Given the description of an element on the screen output the (x, y) to click on. 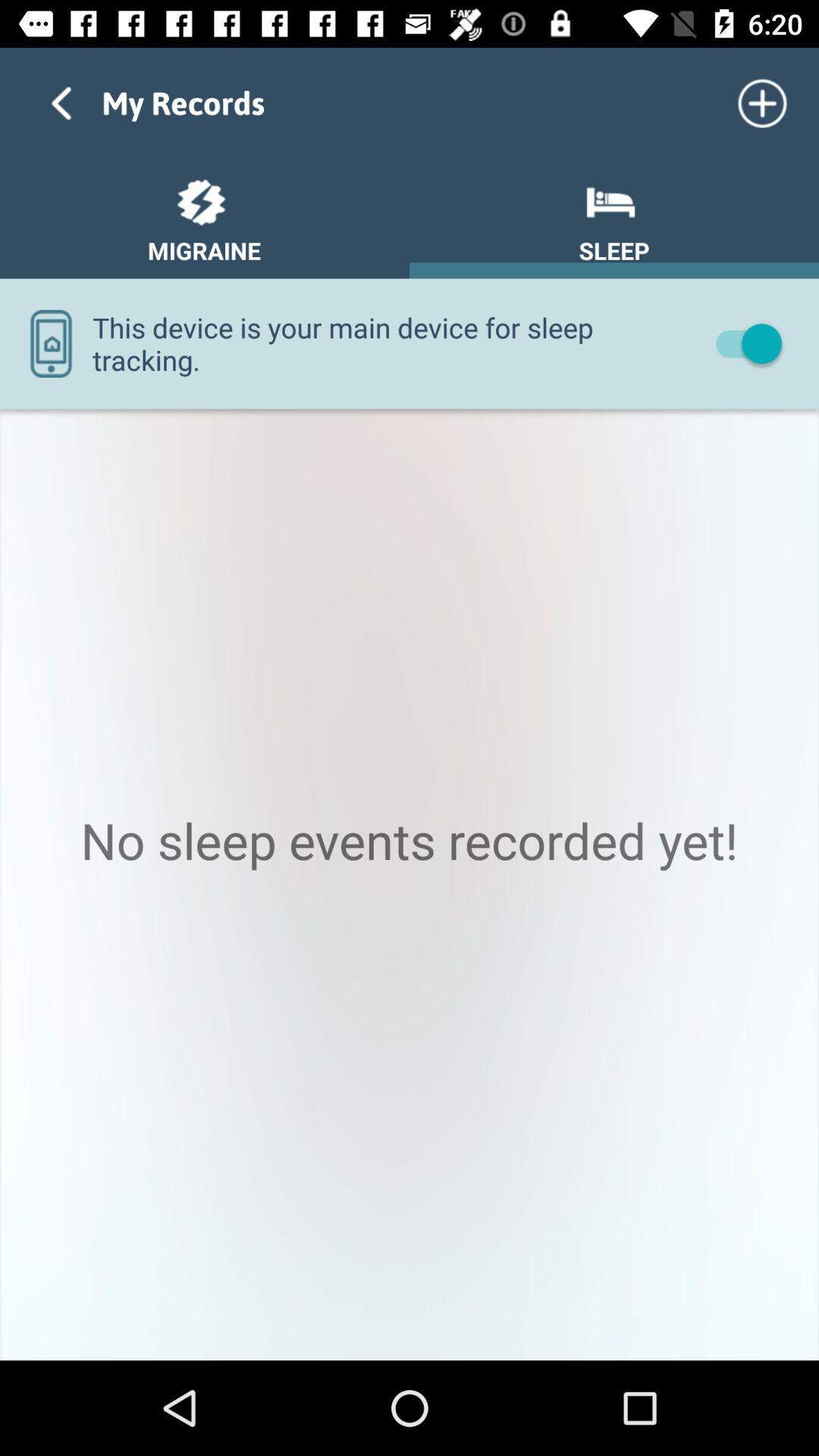
launch item below this device is (409, 884)
